Given the description of an element on the screen output the (x, y) to click on. 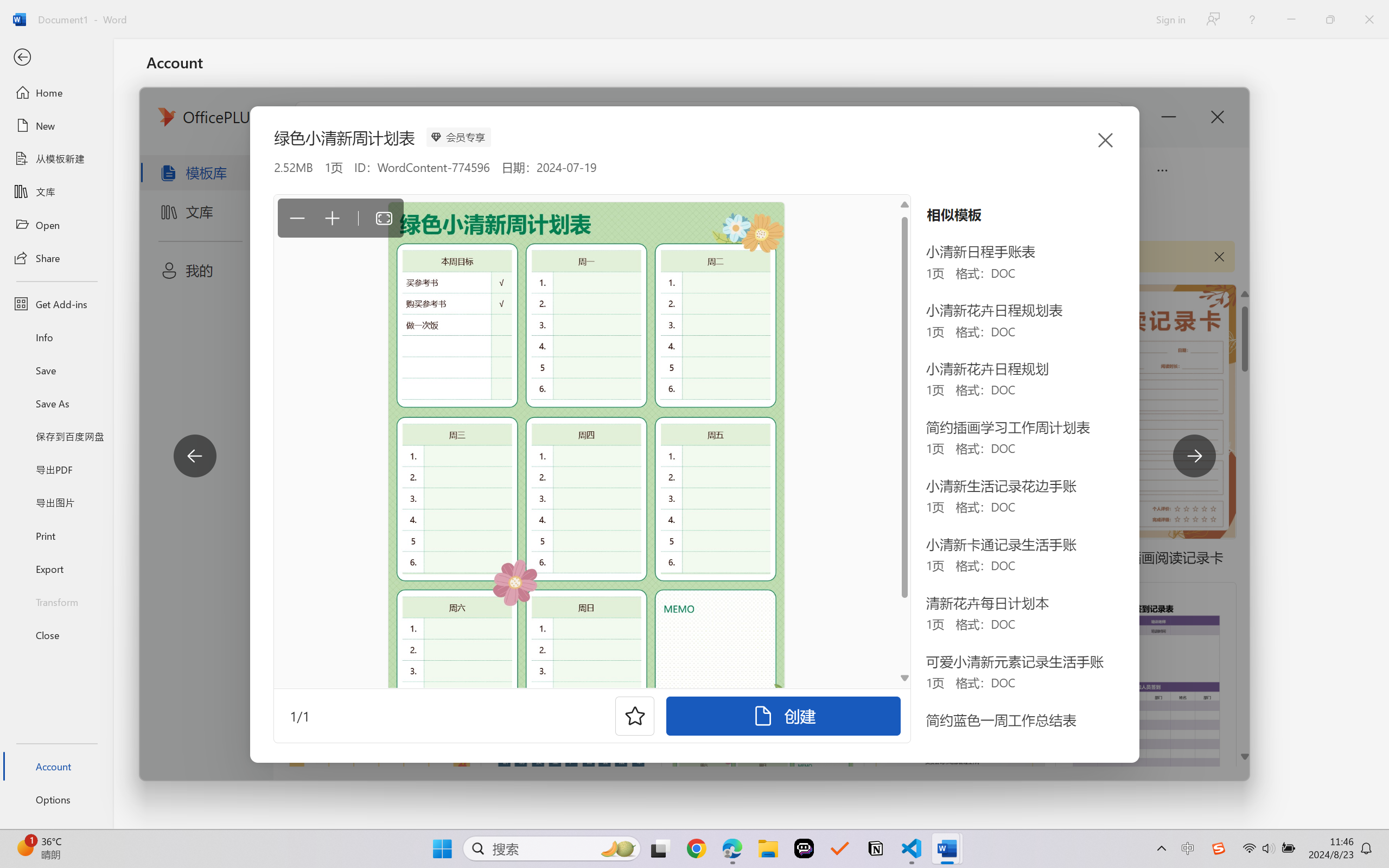
Account (56, 765)
